Given the description of an element on the screen output the (x, y) to click on. 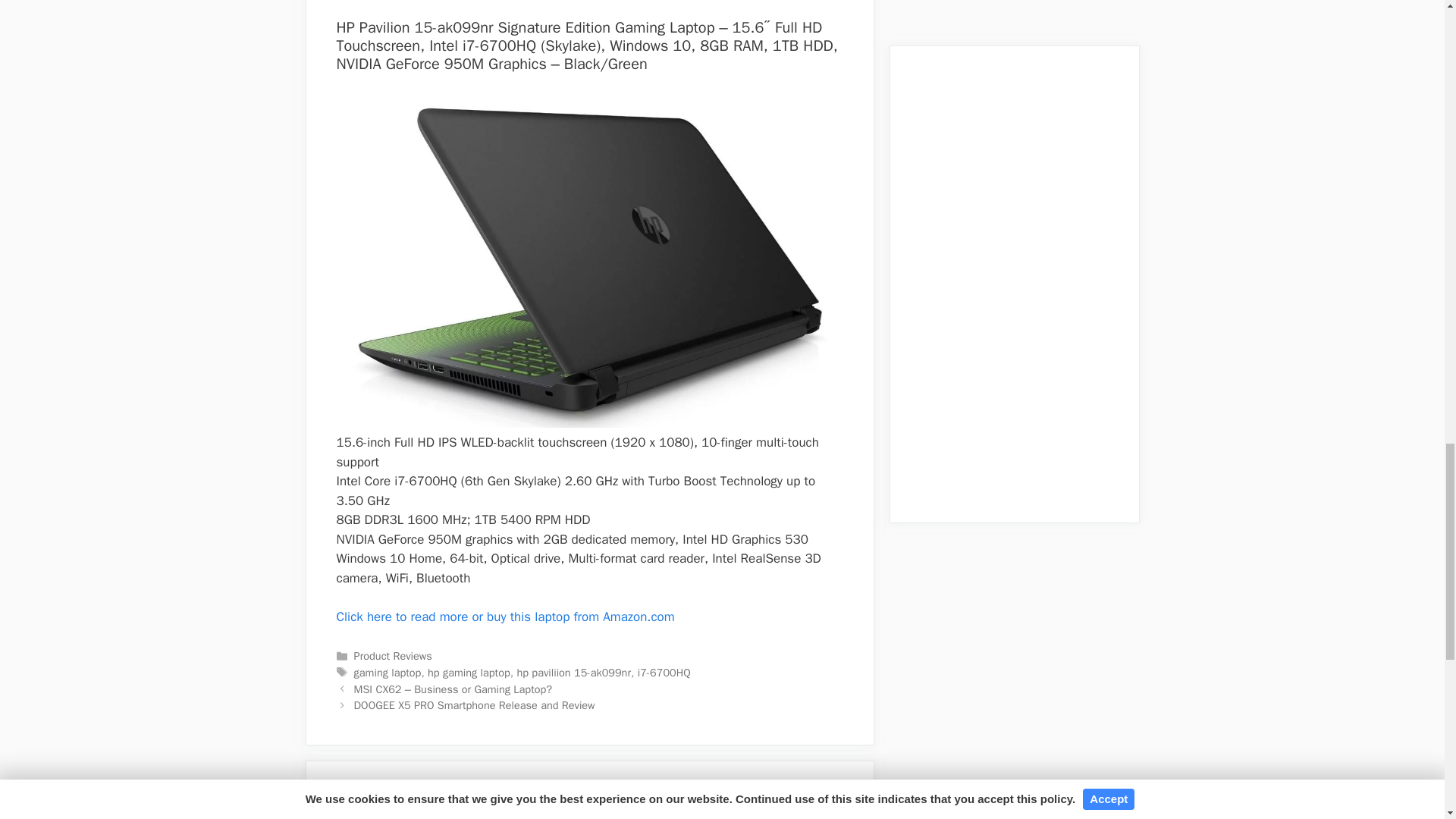
i7-6700HQ (663, 672)
Click here to read more or buy this laptop from Amazon.com (505, 616)
Product Reviews (392, 655)
hp gaming laptop (469, 672)
hp paviliion 15-ak099nr (573, 672)
Previous (453, 689)
gaming laptop (387, 672)
Next (474, 704)
DOOGEE X5 PRO Smartphone Release and Review (474, 704)
